Given the description of an element on the screen output the (x, y) to click on. 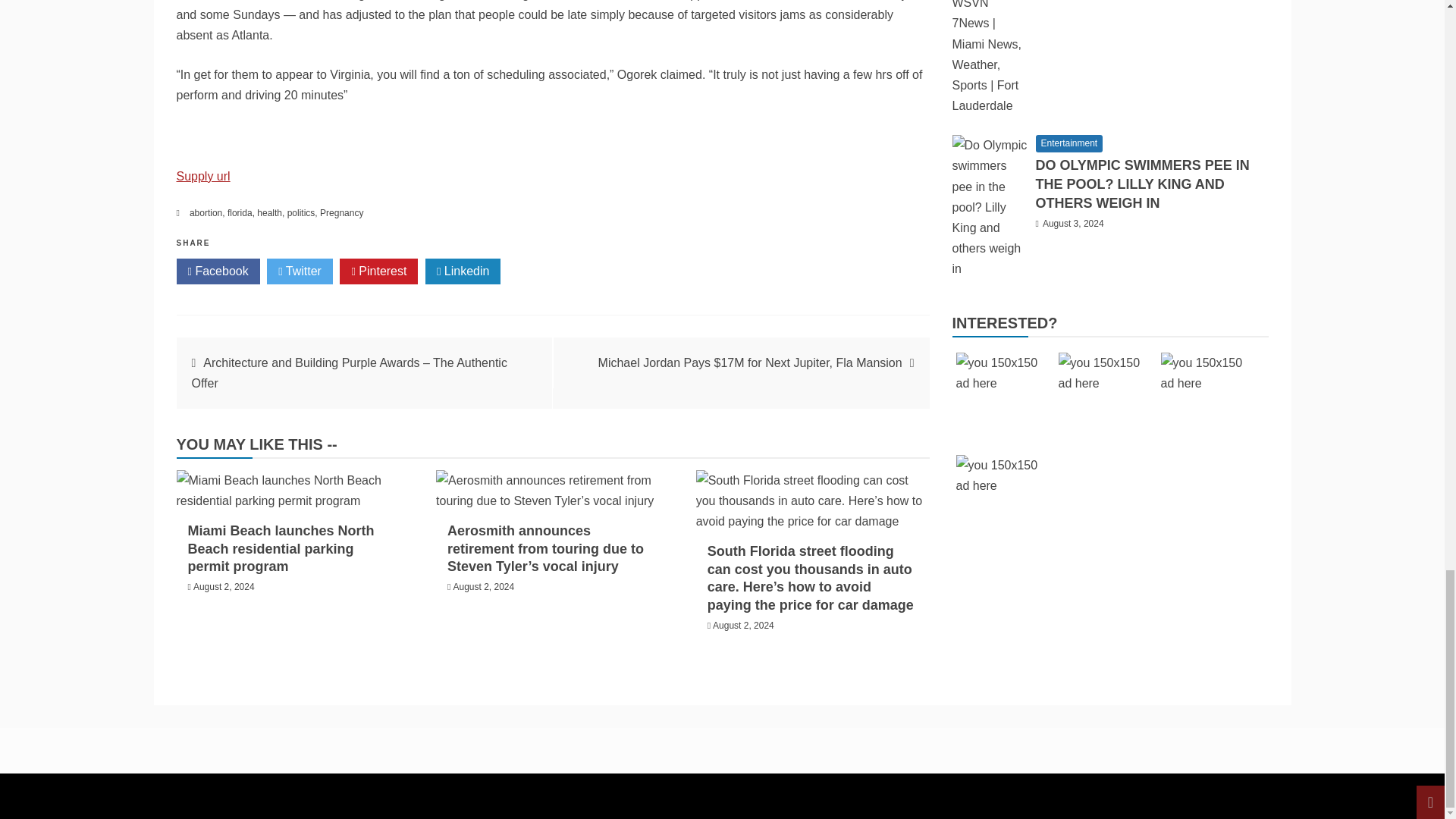
abortion (205, 213)
Facebook (217, 271)
Twitter (299, 271)
florida (239, 213)
Pregnancy (341, 213)
politics (300, 213)
Pinterest (378, 271)
August 2, 2024 (482, 586)
August 2, 2024 (223, 586)
Supply url (203, 175)
Linkedin (462, 271)
health (269, 213)
